Given the description of an element on the screen output the (x, y) to click on. 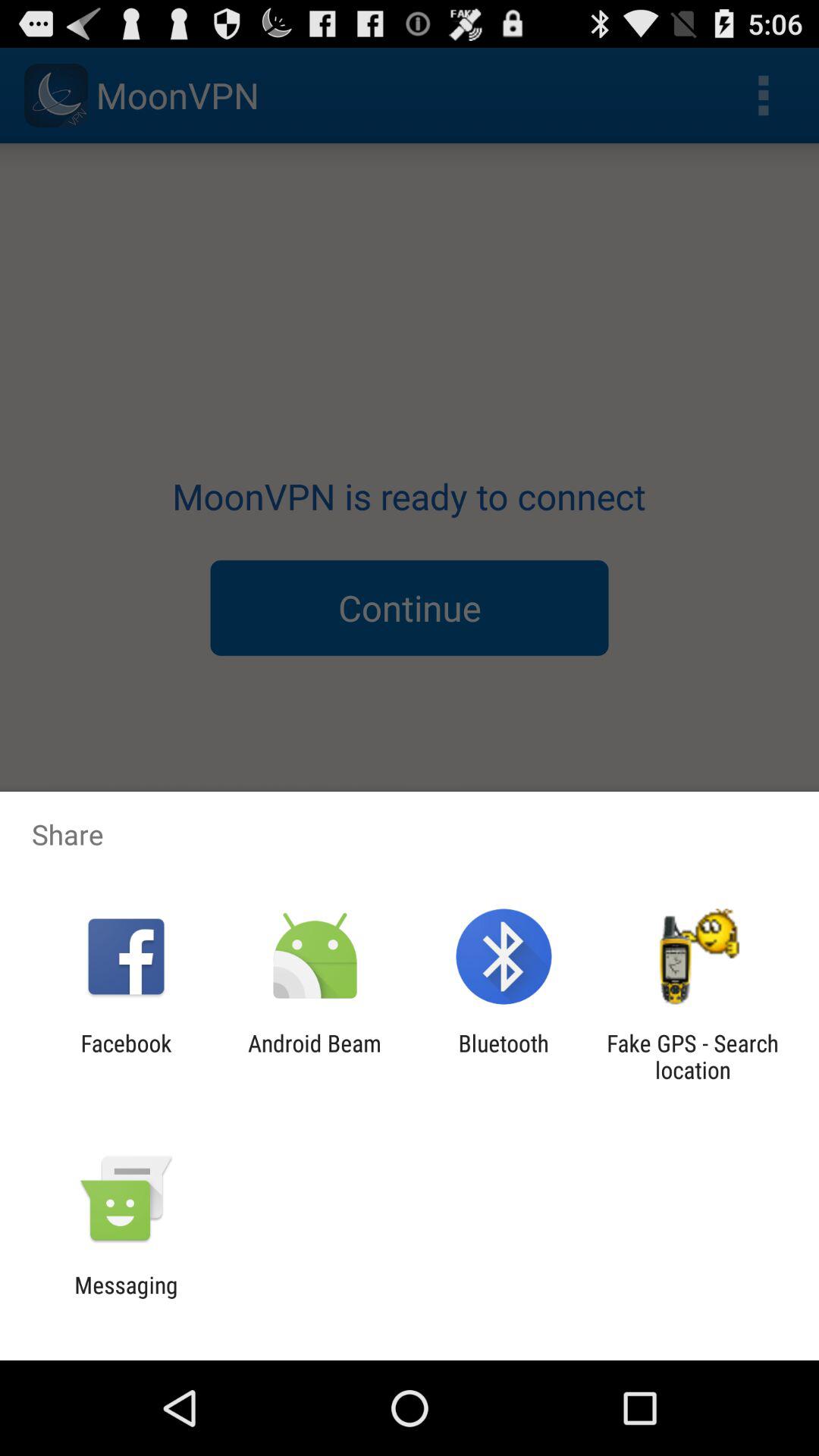
tap the icon next to android beam app (125, 1056)
